Given the description of an element on the screen output the (x, y) to click on. 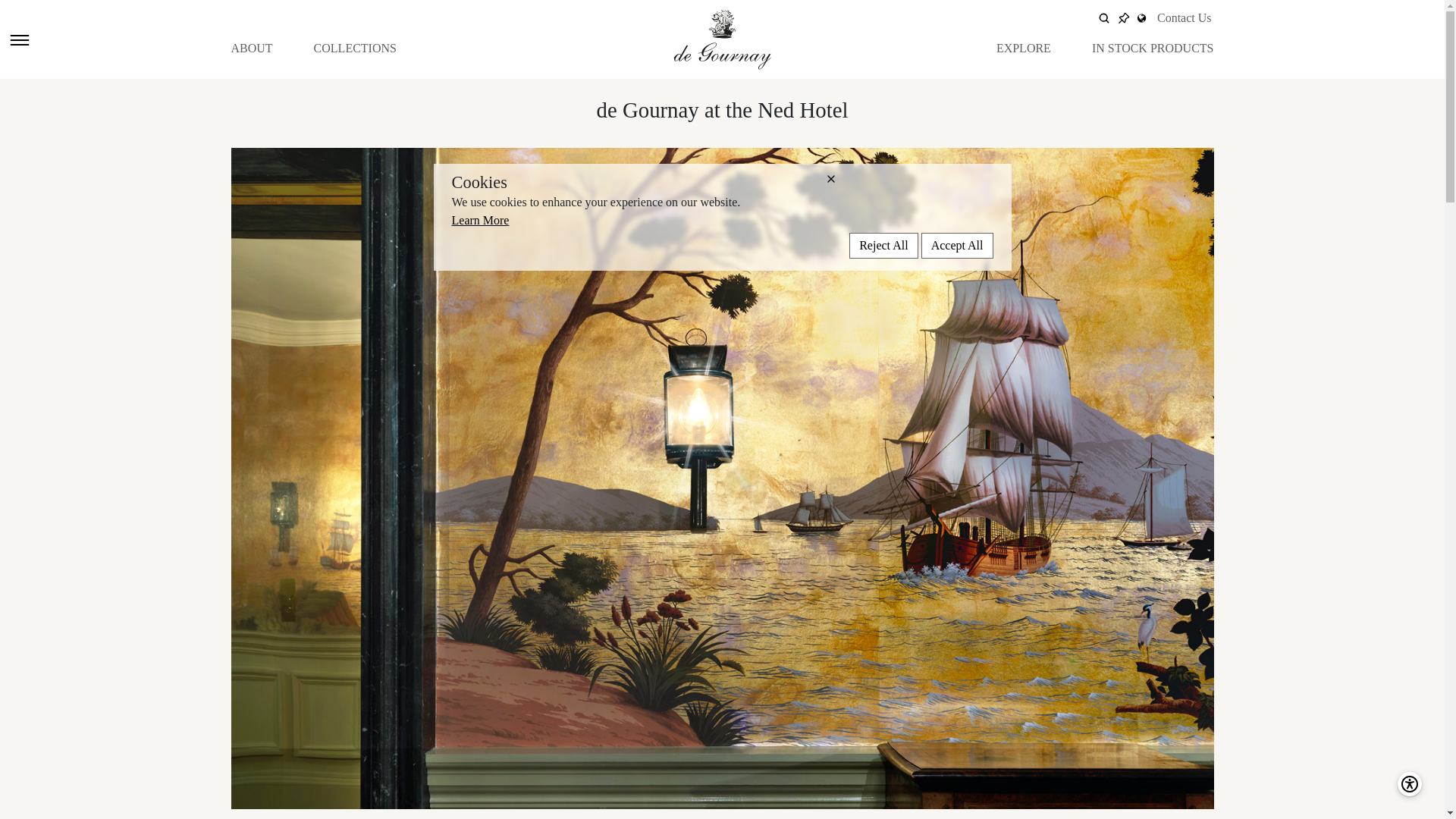
Go to my favourite page (1123, 18)
Accessibility Button (1409, 784)
used to reject all (882, 245)
COLLECTIONS (355, 48)
Reject All (882, 245)
Contact Us (1184, 17)
Learn More (480, 219)
ABOUT (251, 48)
used to accept all (956, 245)
Accept All (956, 245)
Close (908, 178)
Open Side Menu (18, 39)
